Given the description of an element on the screen output the (x, y) to click on. 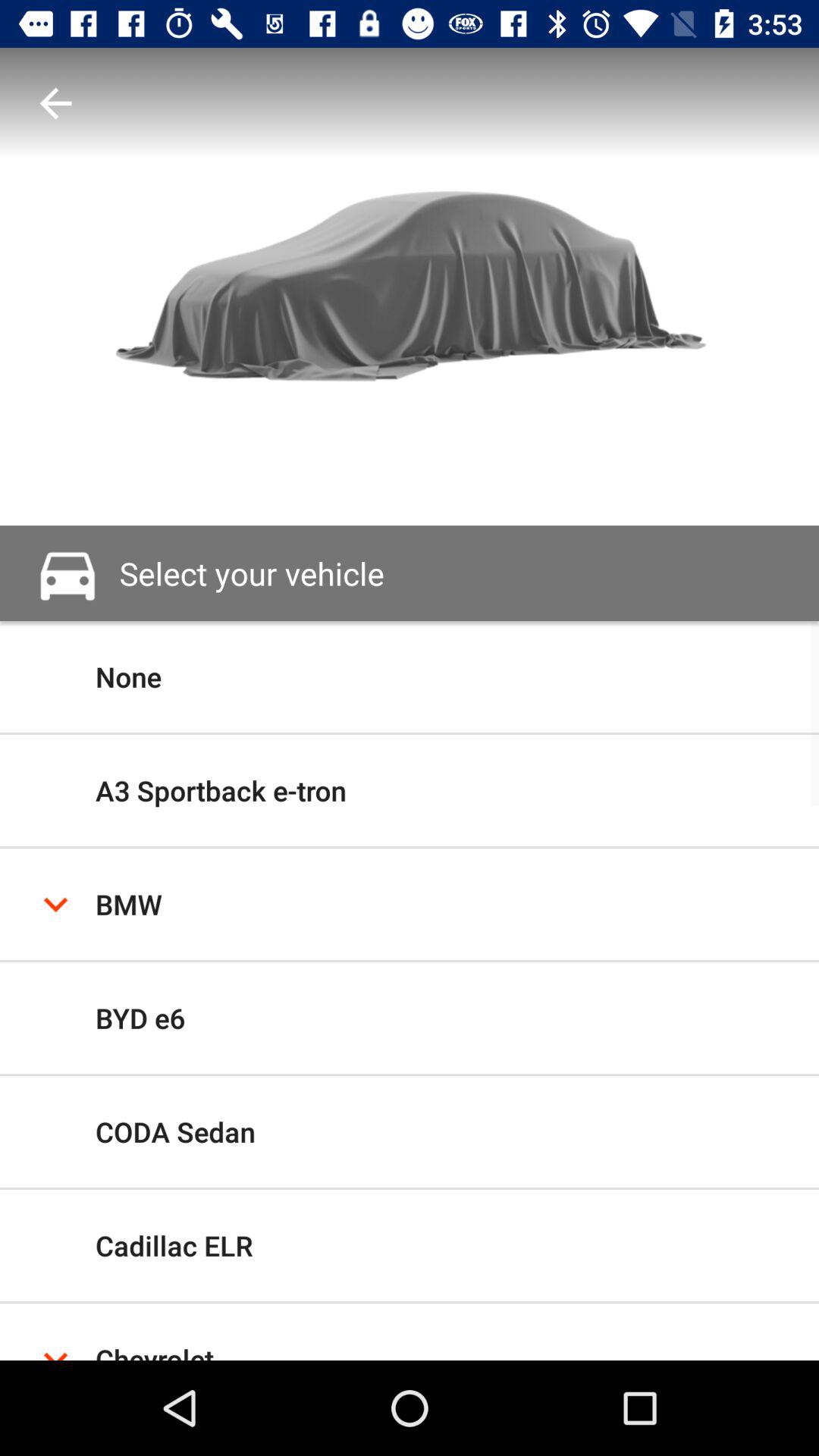
select the icon at the top left corner (55, 103)
